Given the description of an element on the screen output the (x, y) to click on. 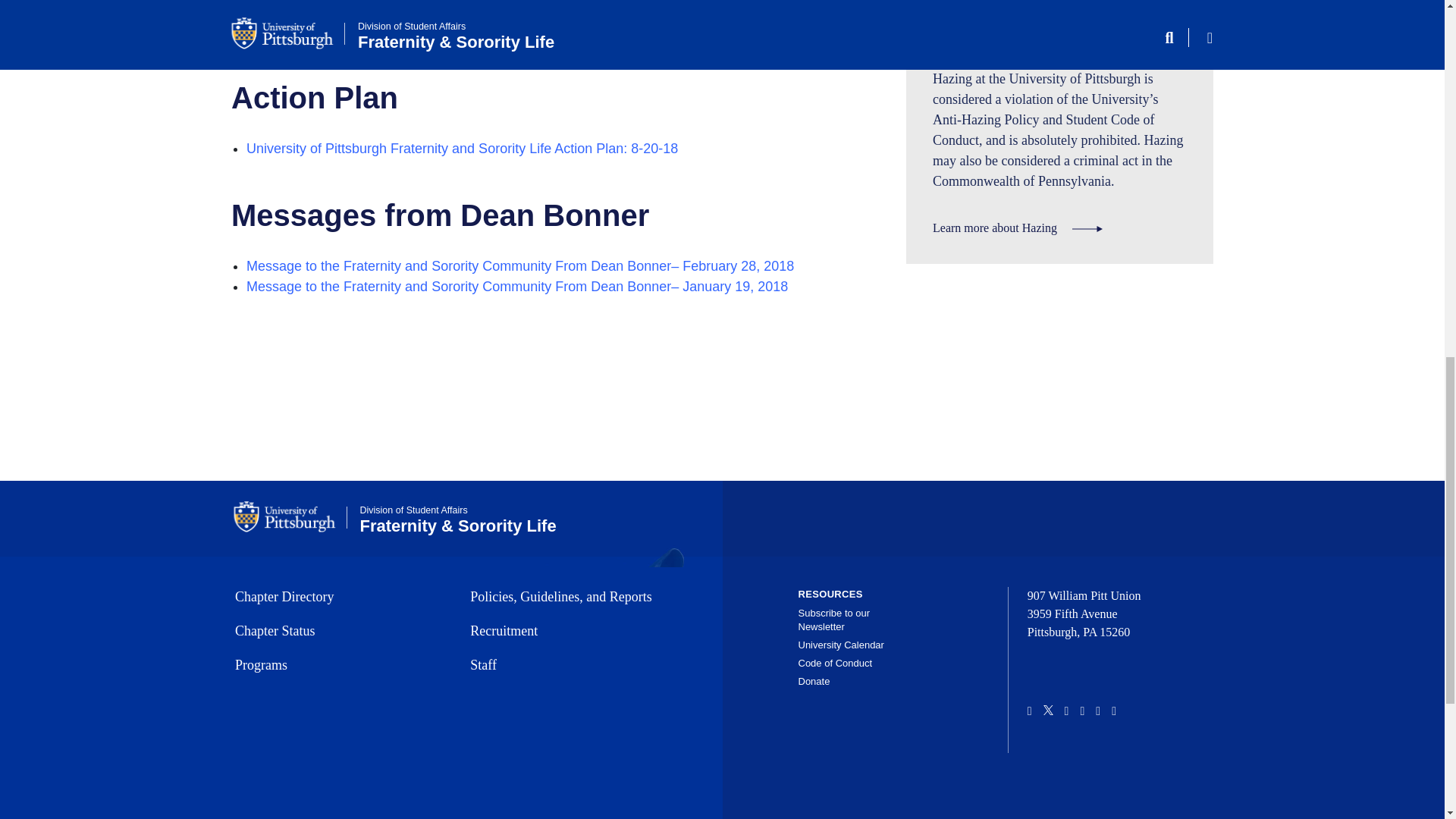
Division of Student Affairs (413, 510)
Subscribe to our Newsletter (833, 619)
Code of Conduct (834, 663)
Fraternity and Sorority Life Consultant Full Report  (398, 10)
Pitt Home (289, 517)
Staff (573, 665)
Learn more about Hazing (1017, 227)
Programs (337, 665)
University Calendar (840, 644)
Recruitment (573, 630)
